Given the description of an element on the screen output the (x, y) to click on. 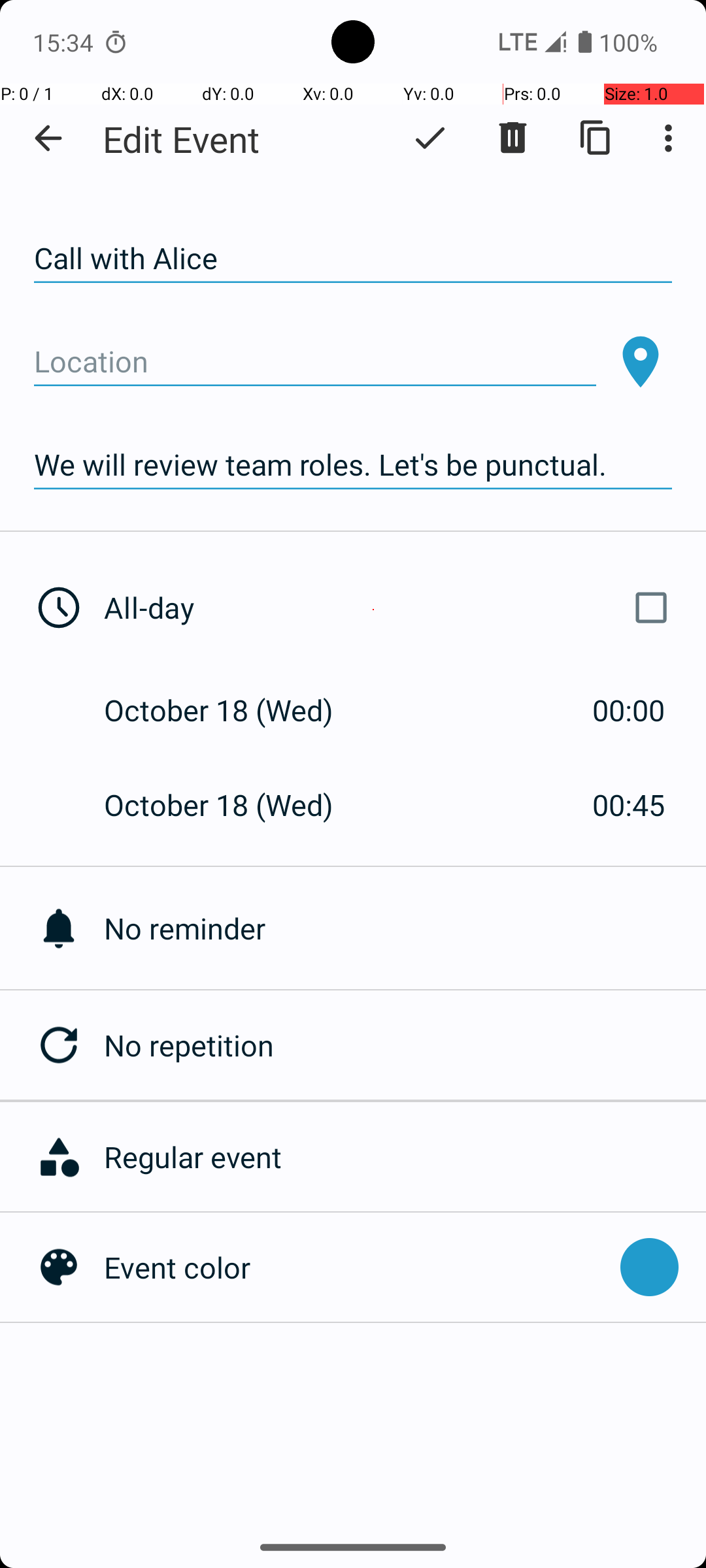
Call with Alice Element type: android.widget.EditText (352, 258)
We will review team roles. Let's be punctual. Element type: android.widget.EditText (352, 465)
October 18 (Wed) Element type: android.widget.TextView (232, 709)
00:00 Element type: android.widget.TextView (628, 709)
00:45 Element type: android.widget.TextView (628, 804)
